Given the description of an element on the screen output the (x, y) to click on. 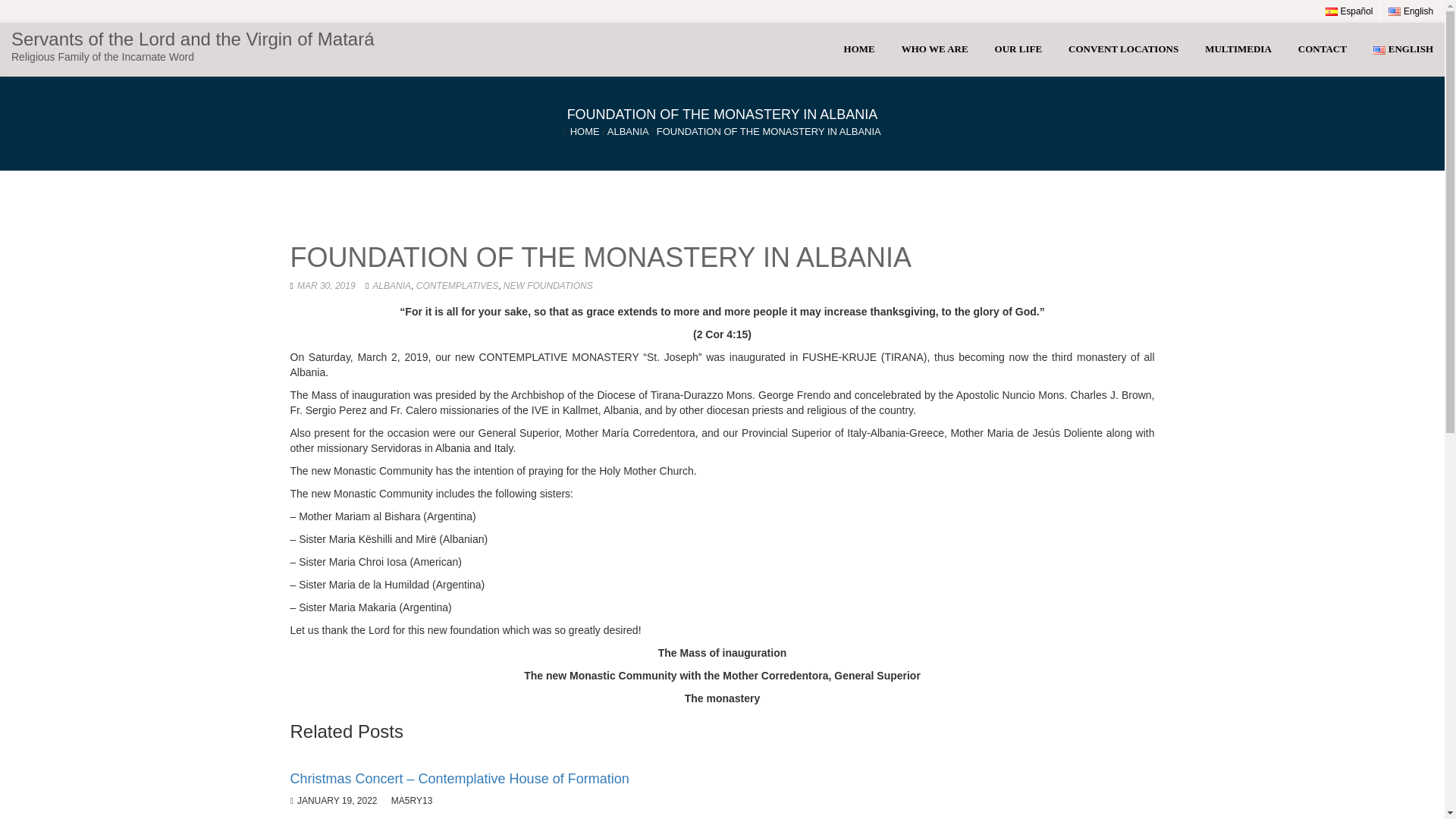
English (1410, 10)
WHO WE ARE (934, 49)
